Given the description of an element on the screen output the (x, y) to click on. 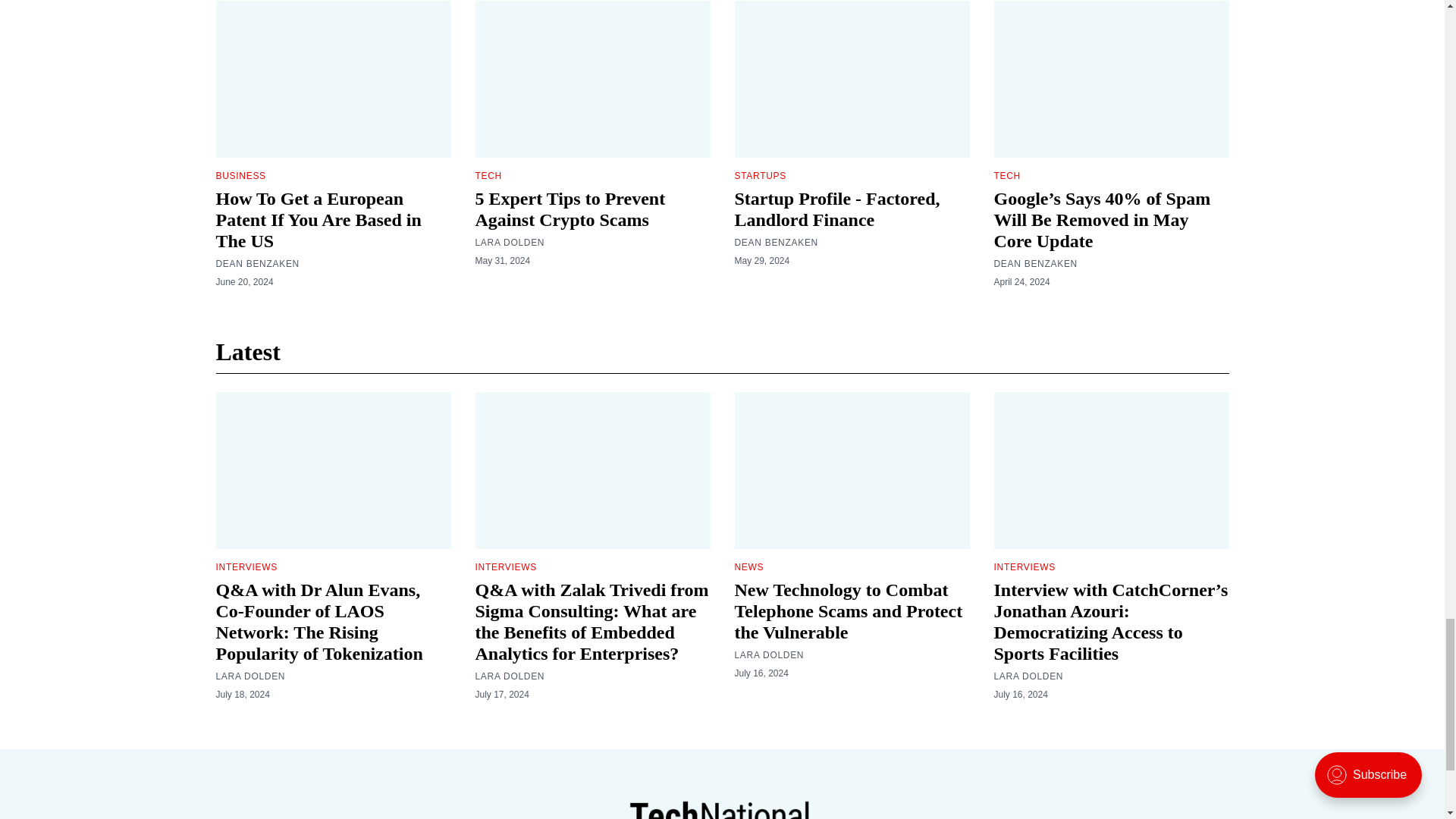
LARA DOLDEN (509, 242)
How To Get a European Patent If You Are Based in The US (317, 219)
DEAN BENZAKEN (1034, 263)
TECH (1006, 175)
5 Expert Tips to Prevent Against Crypto Scams (569, 209)
Startup Profile - Factored, Landlord Finance (836, 209)
STARTUPS (759, 175)
DEAN BENZAKEN (774, 242)
TECH (487, 175)
BUSINESS (239, 175)
DEAN BENZAKEN (256, 263)
